Given the description of an element on the screen output the (x, y) to click on. 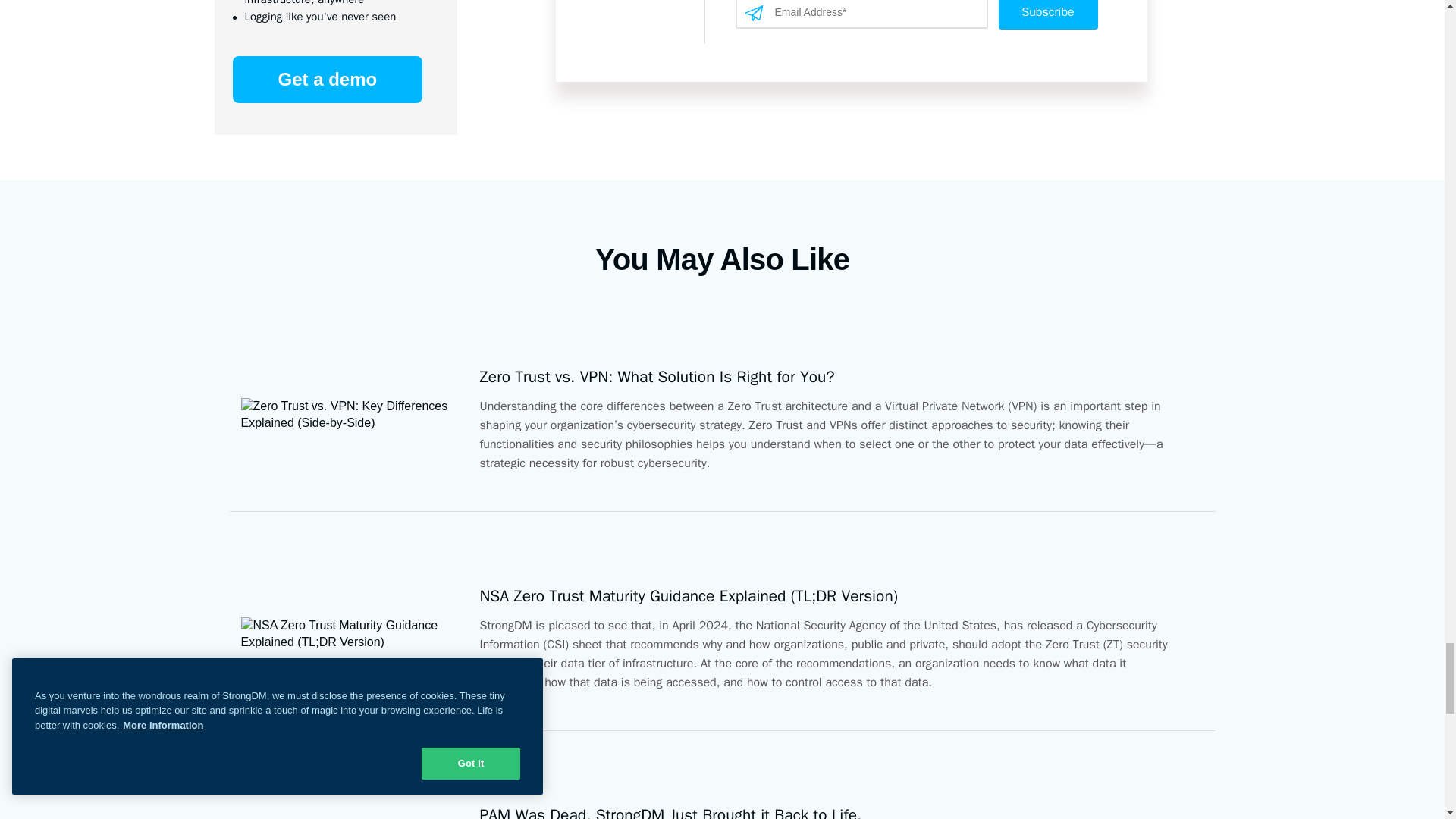
Subscribe (1047, 14)
